Given the description of an element on the screen output the (x, y) to click on. 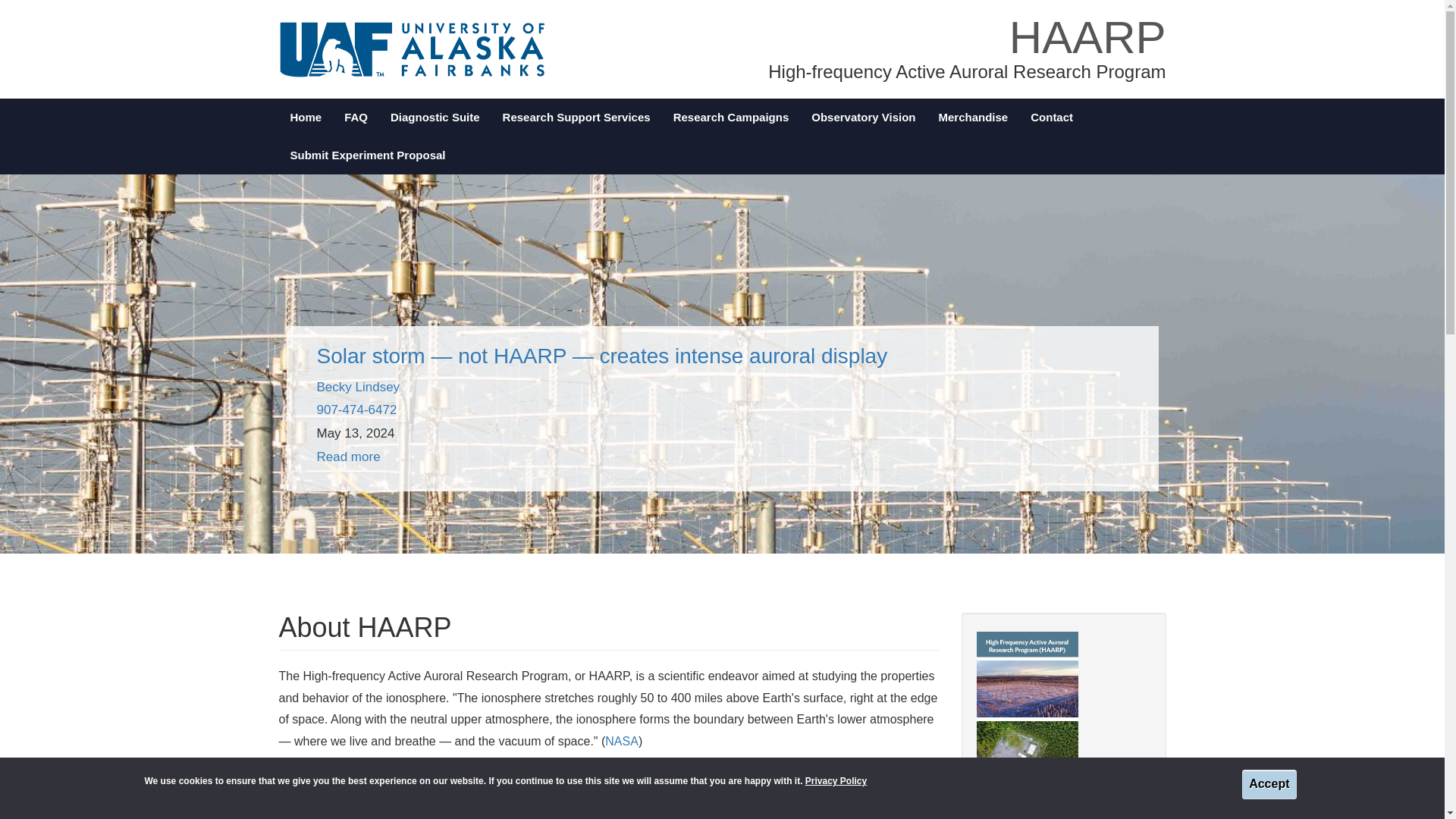
Diagnostic Suite (435, 117)
Observatory Vision (862, 117)
Merchandise (973, 117)
HAARP (1087, 37)
NASA (622, 740)
Becky Lindsey (358, 386)
907-474-6472 (357, 409)
Research Support Services (577, 117)
Research Campaigns (731, 117)
Home (306, 117)
Contact (1051, 117)
Submit Experiment Proposal (368, 155)
FAQ (355, 117)
Accept (1268, 784)
